Given the description of an element on the screen output the (x, y) to click on. 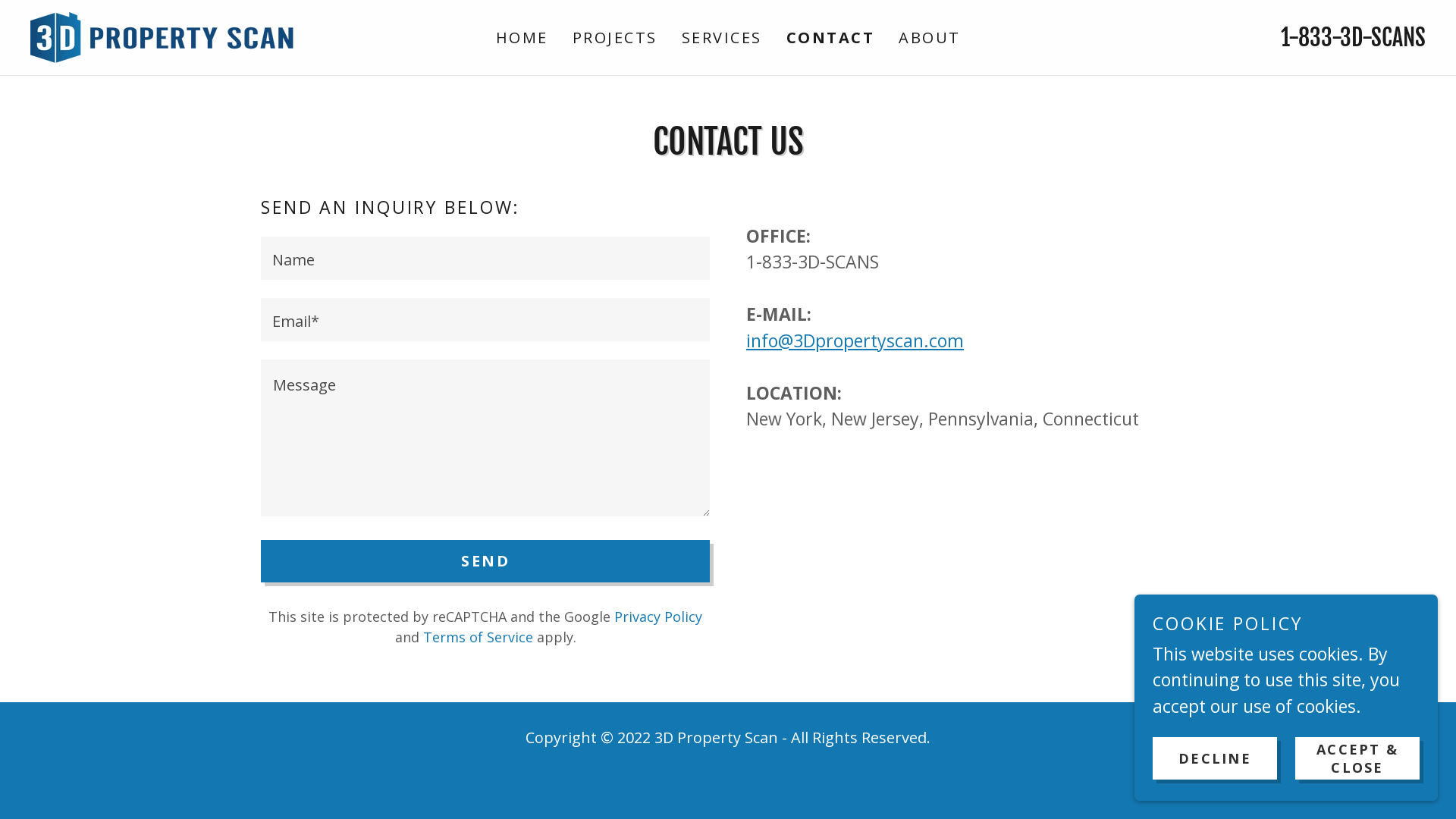
DECLINE Element type: text (1214, 758)
SEND Element type: text (484, 560)
Privacy Policy Element type: text (658, 616)
info@3Dpropertyscan.com Element type: text (854, 339)
ABOUT Element type: text (929, 37)
ACCEPT & CLOSE Element type: text (1357, 758)
PROJECTS Element type: text (614, 37)
SERVICES Element type: text (720, 37)
CONTACT Element type: text (829, 37)
Terms of Service Element type: text (478, 636)
1-833-3 Element type: text (1315, 36)
HOME Element type: text (521, 37)
